Given the description of an element on the screen output the (x, y) to click on. 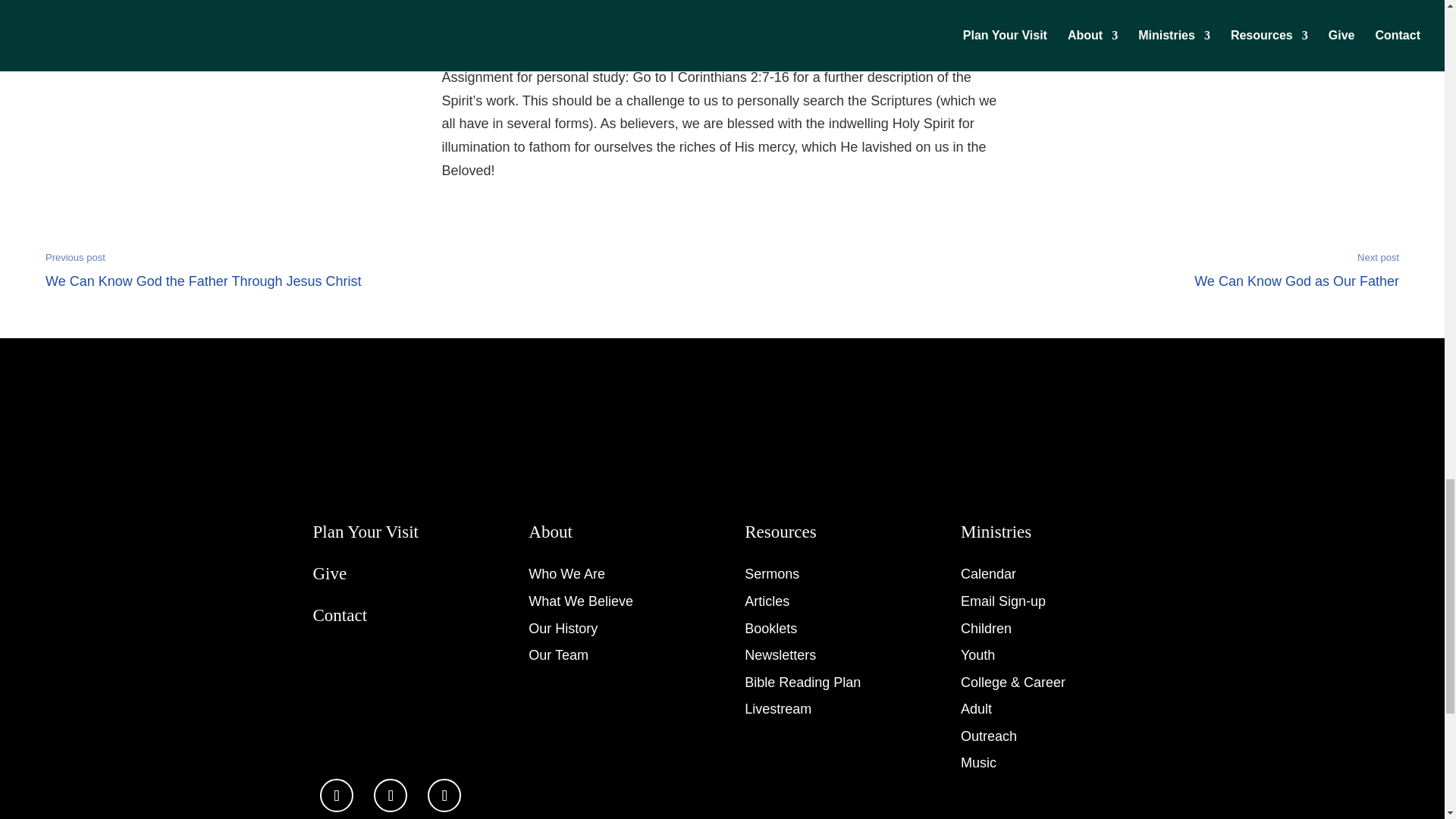
Follow on Youtube (1296, 269)
ihcc-logo-white1 (444, 795)
Follow on Instagram (369, 439)
Follow on Facebook (390, 795)
